Given the description of an element on the screen output the (x, y) to click on. 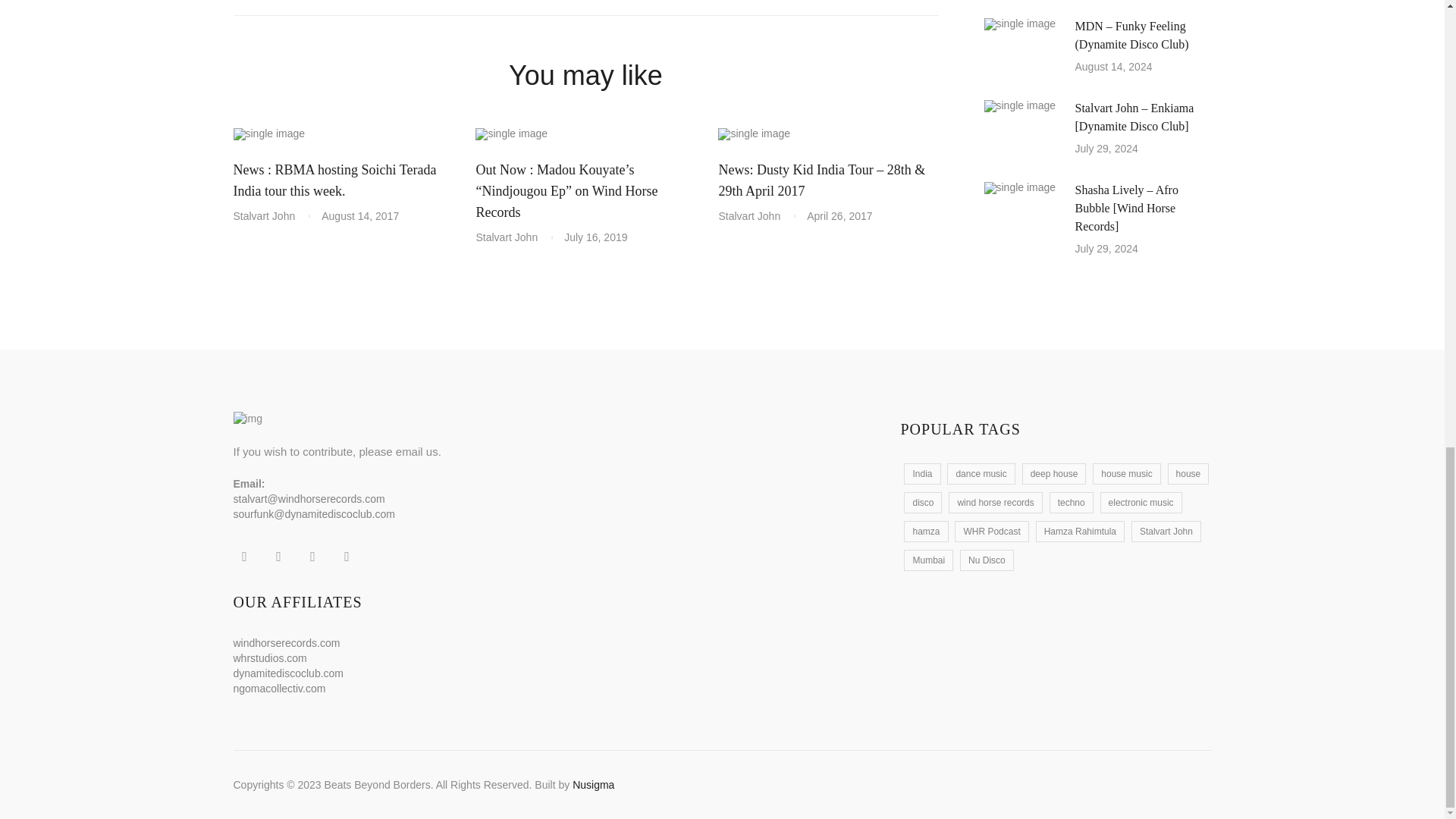
Stalvart John (269, 215)
August 14, 2017 (359, 215)
ion-social-facebook (244, 556)
News : RBMA hosting Soichi Terada India tour this week. (334, 180)
ion-social-twitter (277, 556)
